Given the description of an element on the screen output the (x, y) to click on. 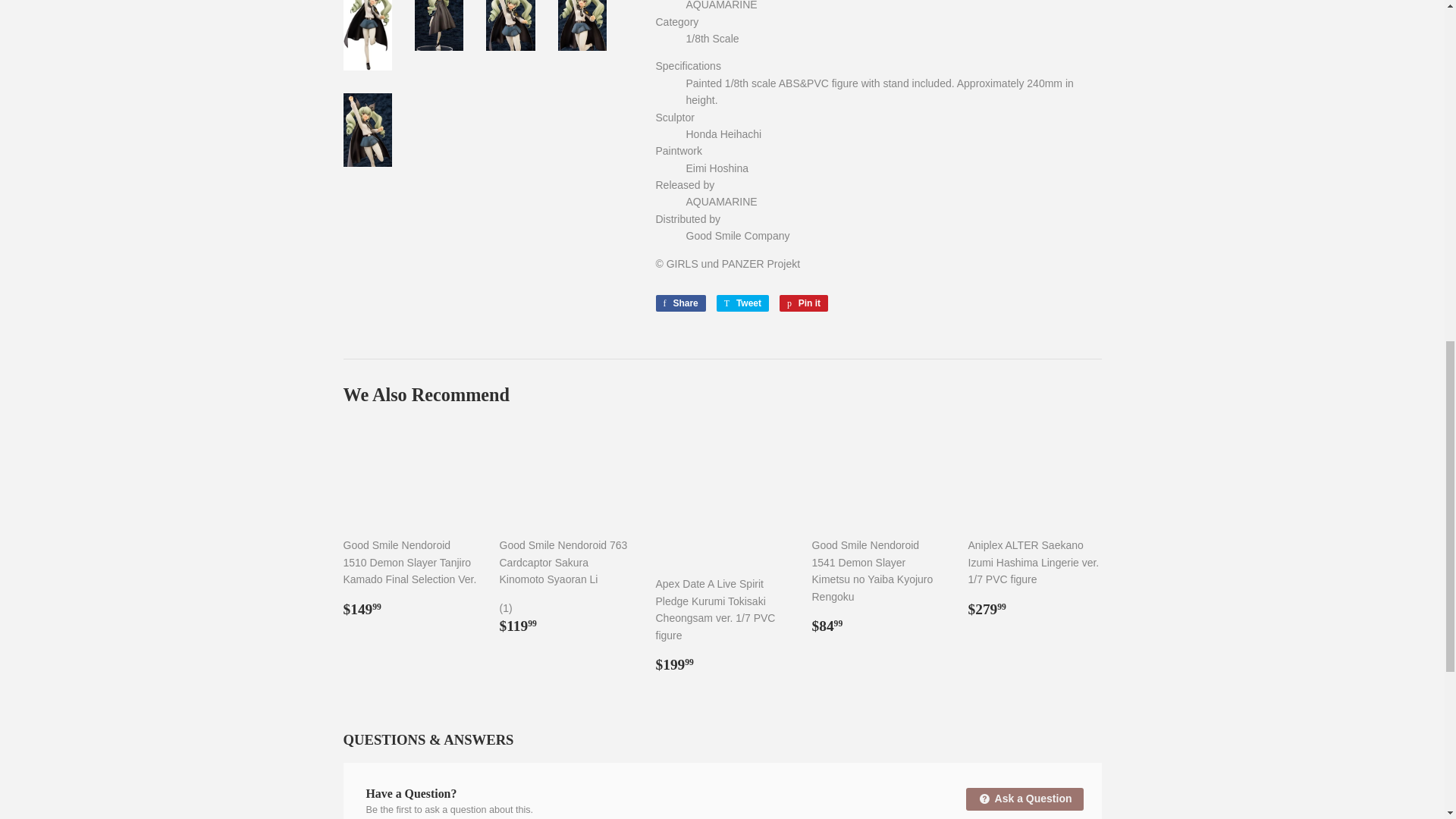
Share on Facebook (679, 303)
Pin on Pinterest (803, 303)
Tweet on Twitter (679, 303)
